Given the description of an element on the screen output the (x, y) to click on. 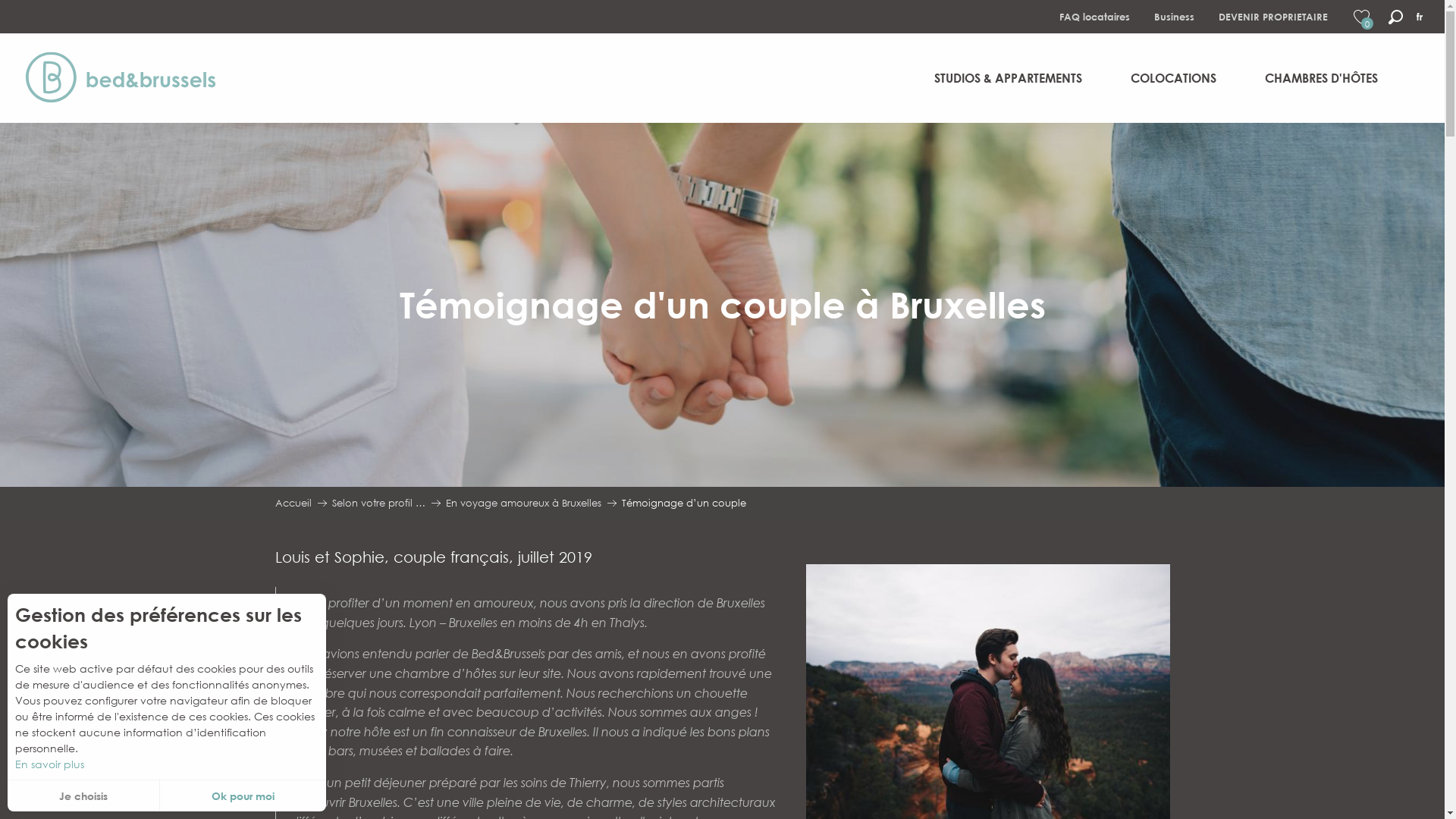
Accueil Element type: text (292, 502)
DEVENIR PROPRIETAIRE Element type: text (1272, 17)
0 Element type: text (1362, 17)
COLOCATIONS Element type: text (1173, 77)
En savoir plus Element type: text (166, 763)
FAQ locataires Element type: text (1094, 17)
Je choisis Element type: text (83, 795)
Ok pour moi Element type: text (243, 795)
Business Element type: text (1174, 17)
STUDIOS & APPARTEMENTS Element type: text (1008, 77)
